Given the description of an element on the screen output the (x, y) to click on. 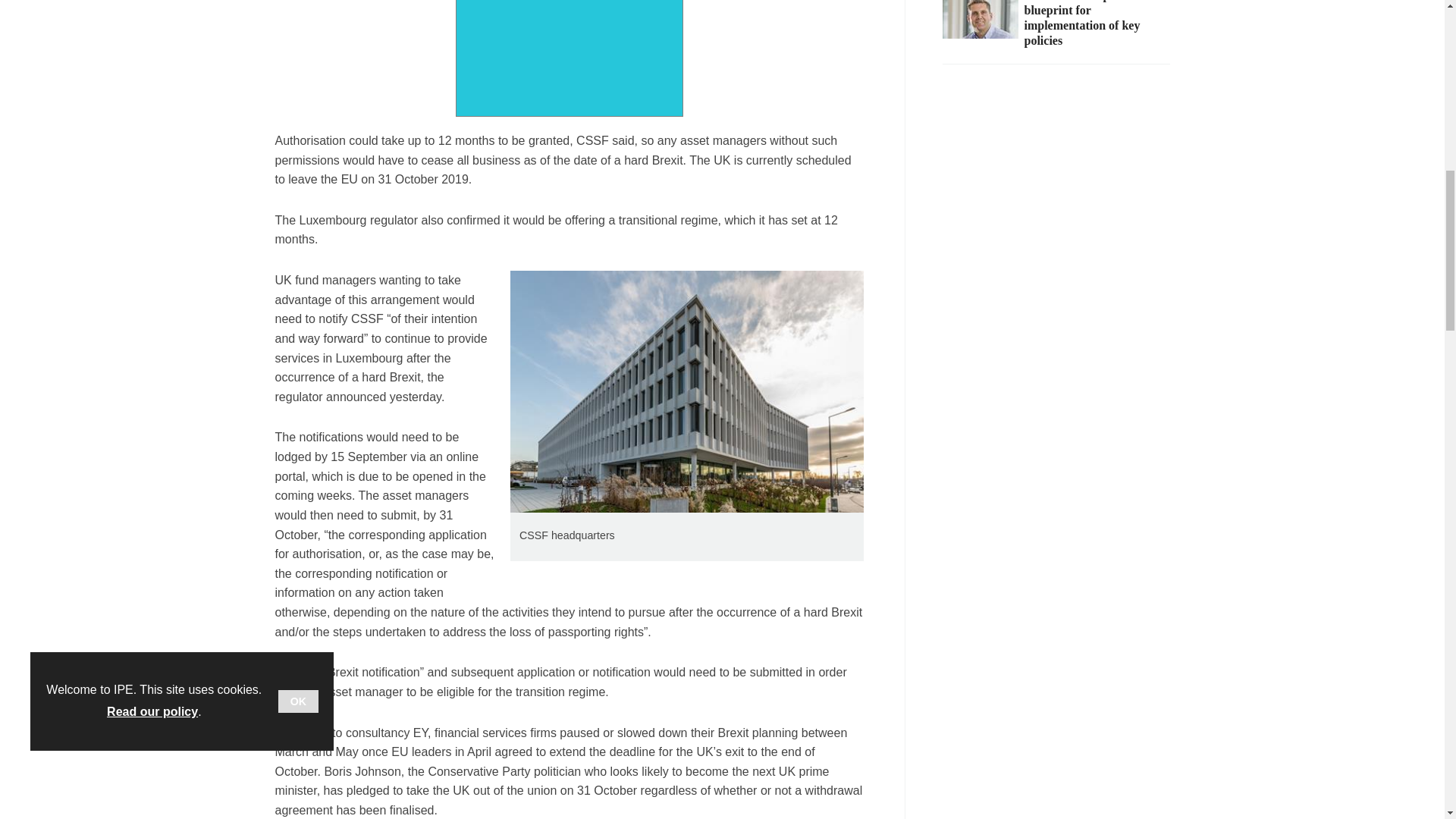
3rd party ad content (568, 58)
